Given the description of an element on the screen output the (x, y) to click on. 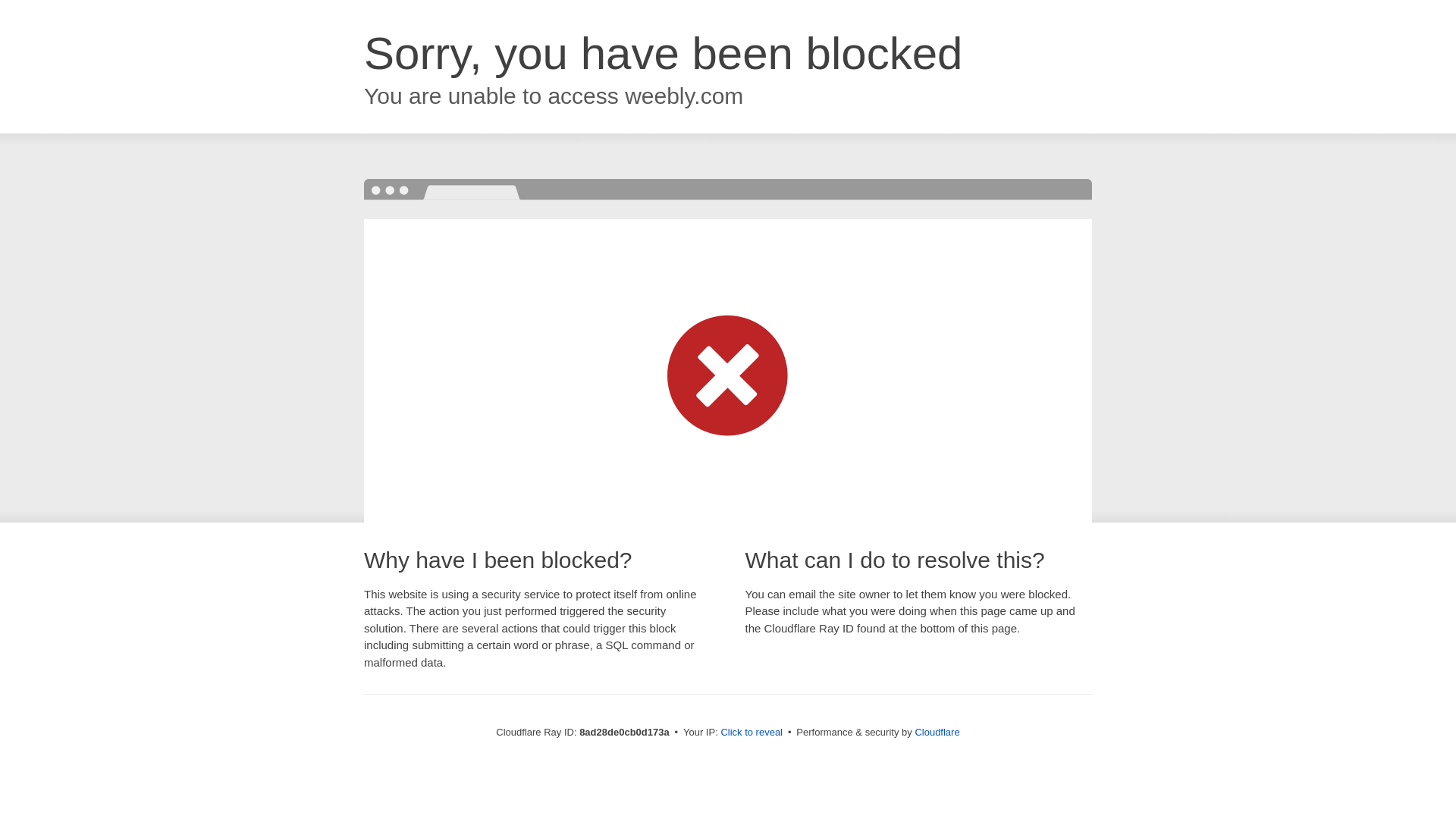
Click to reveal (751, 732)
Cloudflare (936, 731)
